Given the description of an element on the screen output the (x, y) to click on. 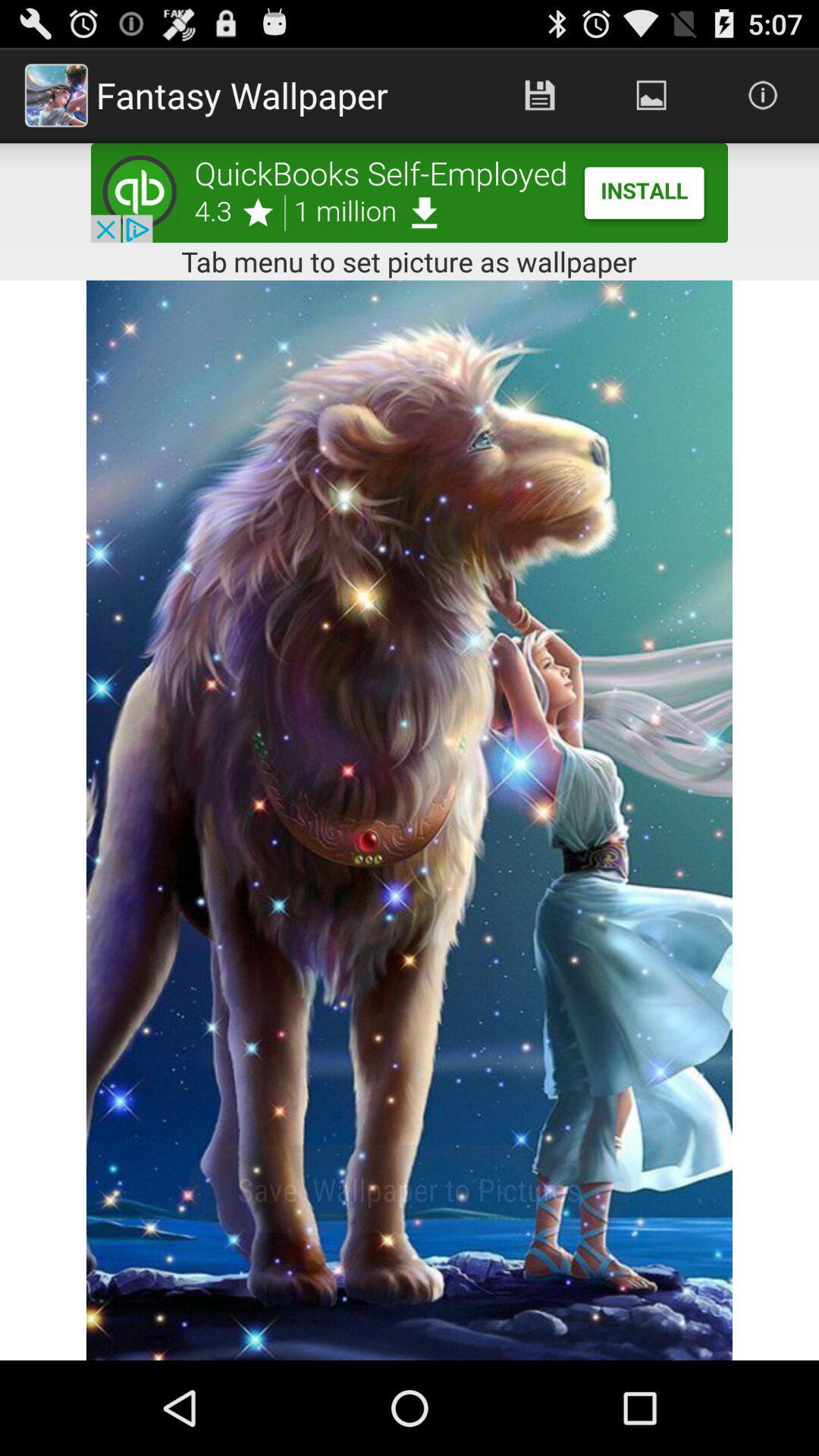
install app (409, 192)
